Given the description of an element on the screen output the (x, y) to click on. 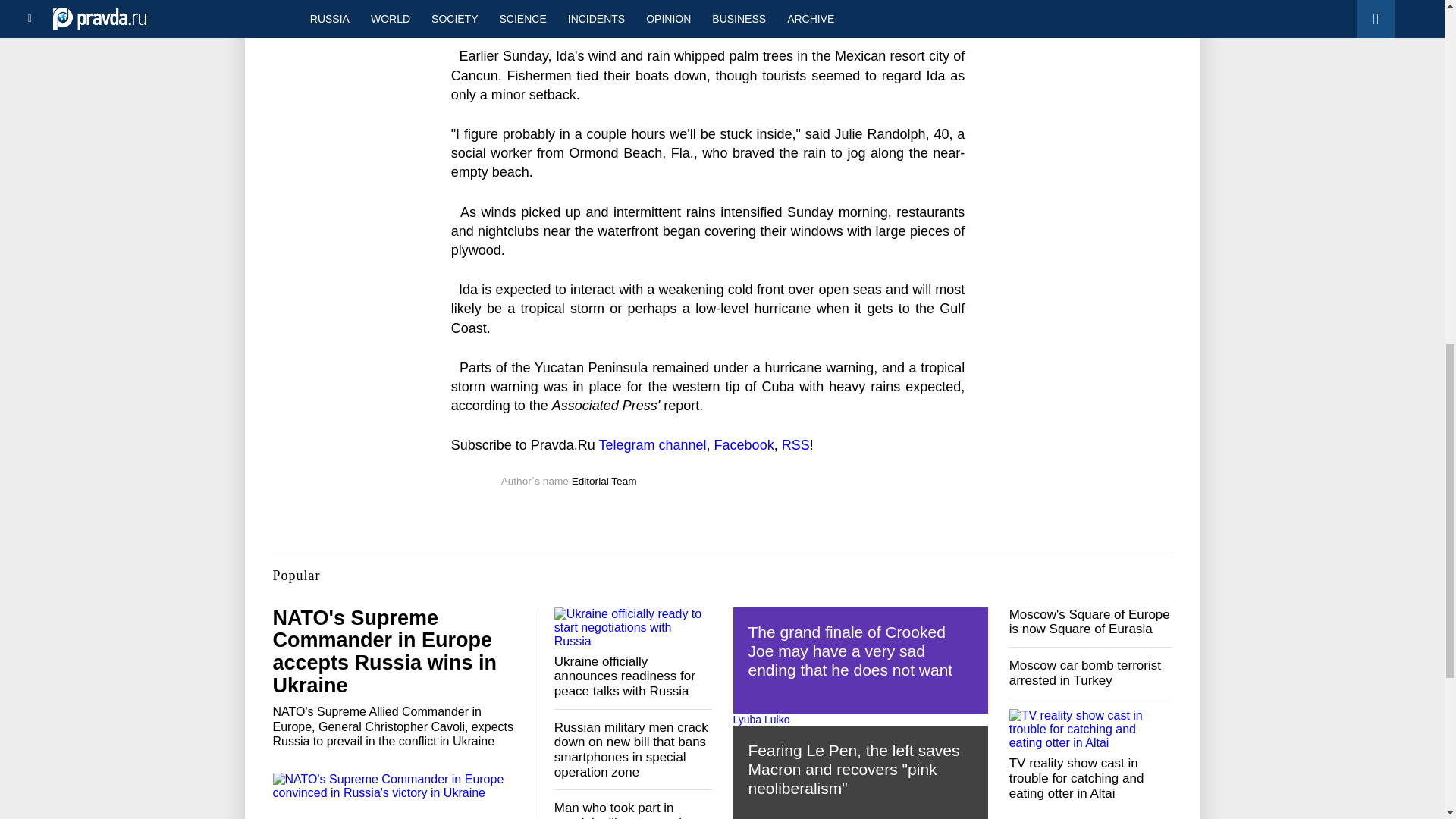
Back to top (1418, 79)
Telegram channel (652, 444)
Facebook (744, 444)
Editorial Team (604, 480)
RSS (795, 444)
